Given the description of an element on the screen output the (x, y) to click on. 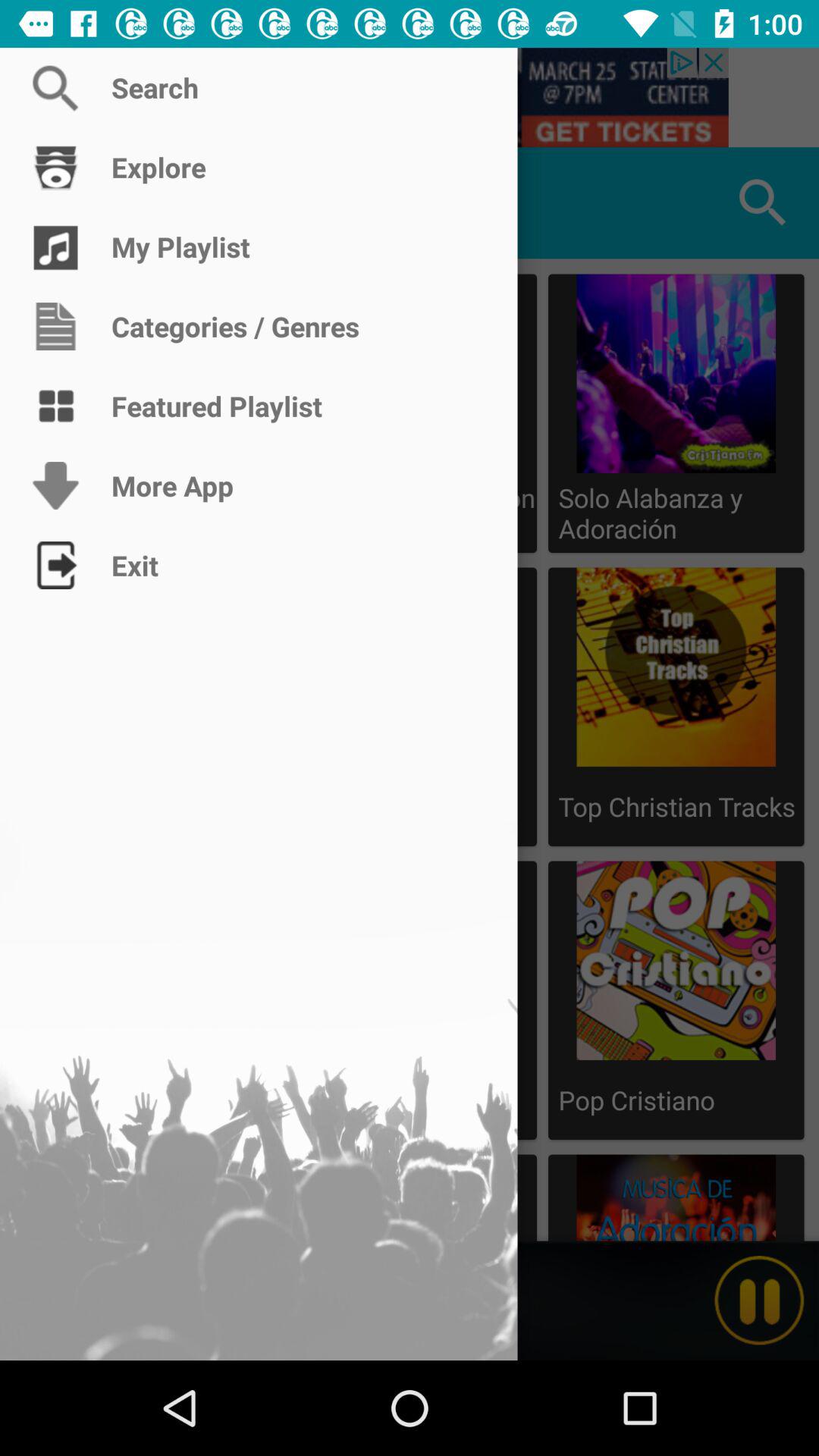
stop playing audio (759, 1300)
